Given the description of an element on the screen output the (x, y) to click on. 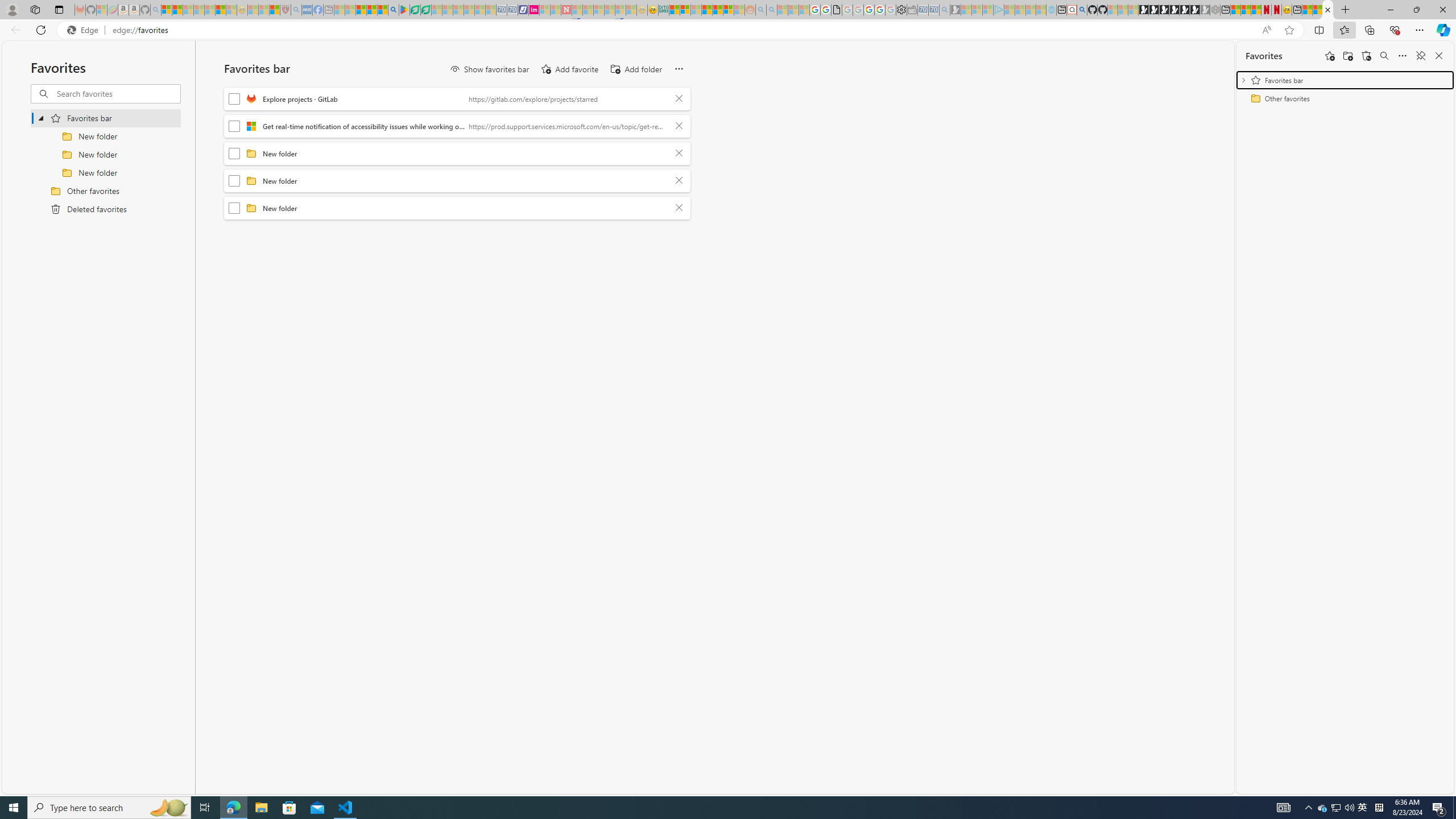
Local - MSN (274, 9)
Kinda Frugal - MSN (717, 9)
Delete (679, 207)
Show favorites bar (488, 69)
Pets - MSN (371, 9)
